Given the description of an element on the screen output the (x, y) to click on. 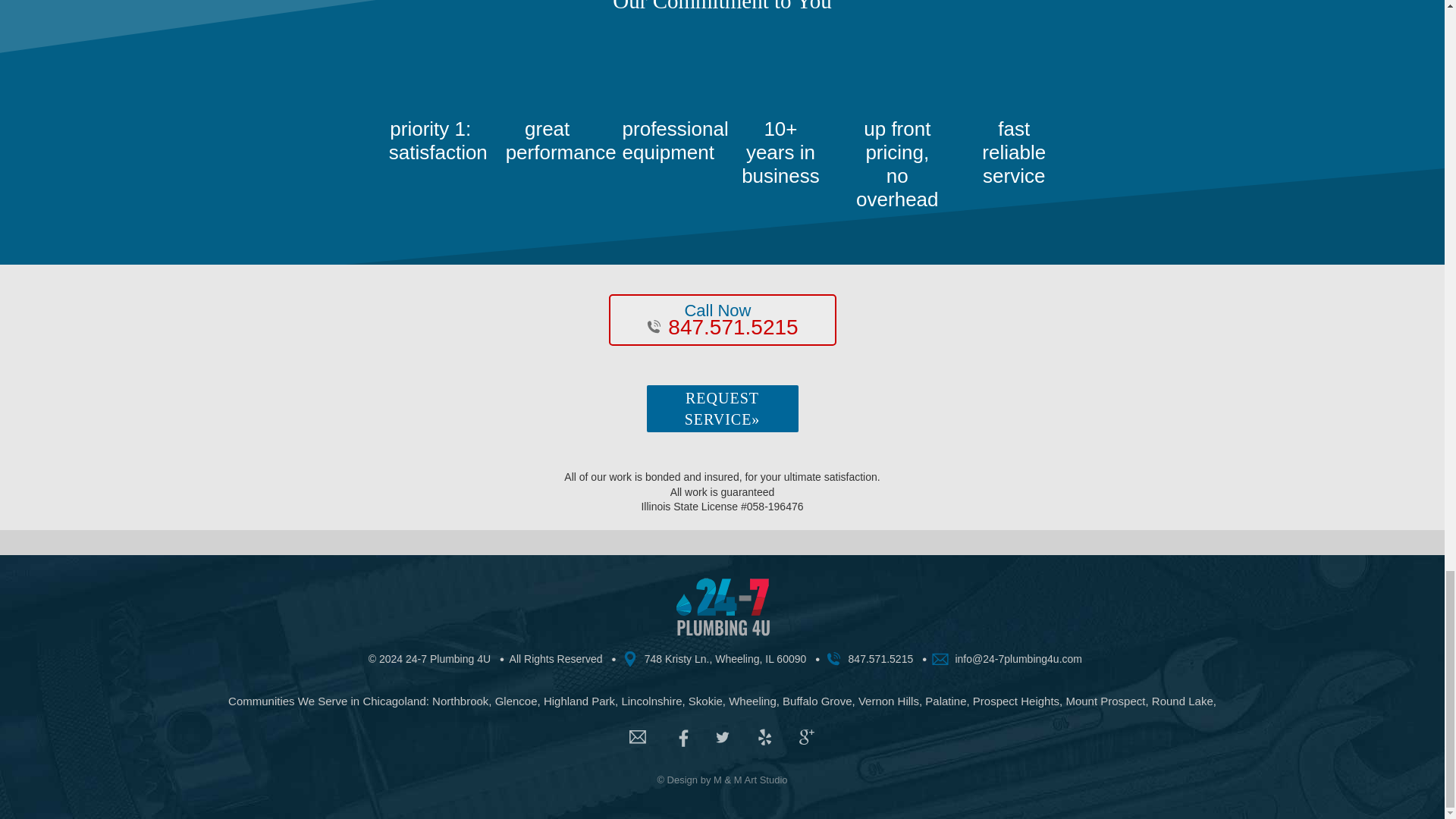
Highland Park, IL 24-7 Plumbing 4U (578, 700)
Glencoe, IL 24-7 Plumbing 4U (516, 700)
Northbrook, IL 24-7 Plumbing 4U (459, 700)
